Given the description of an element on the screen output the (x, y) to click on. 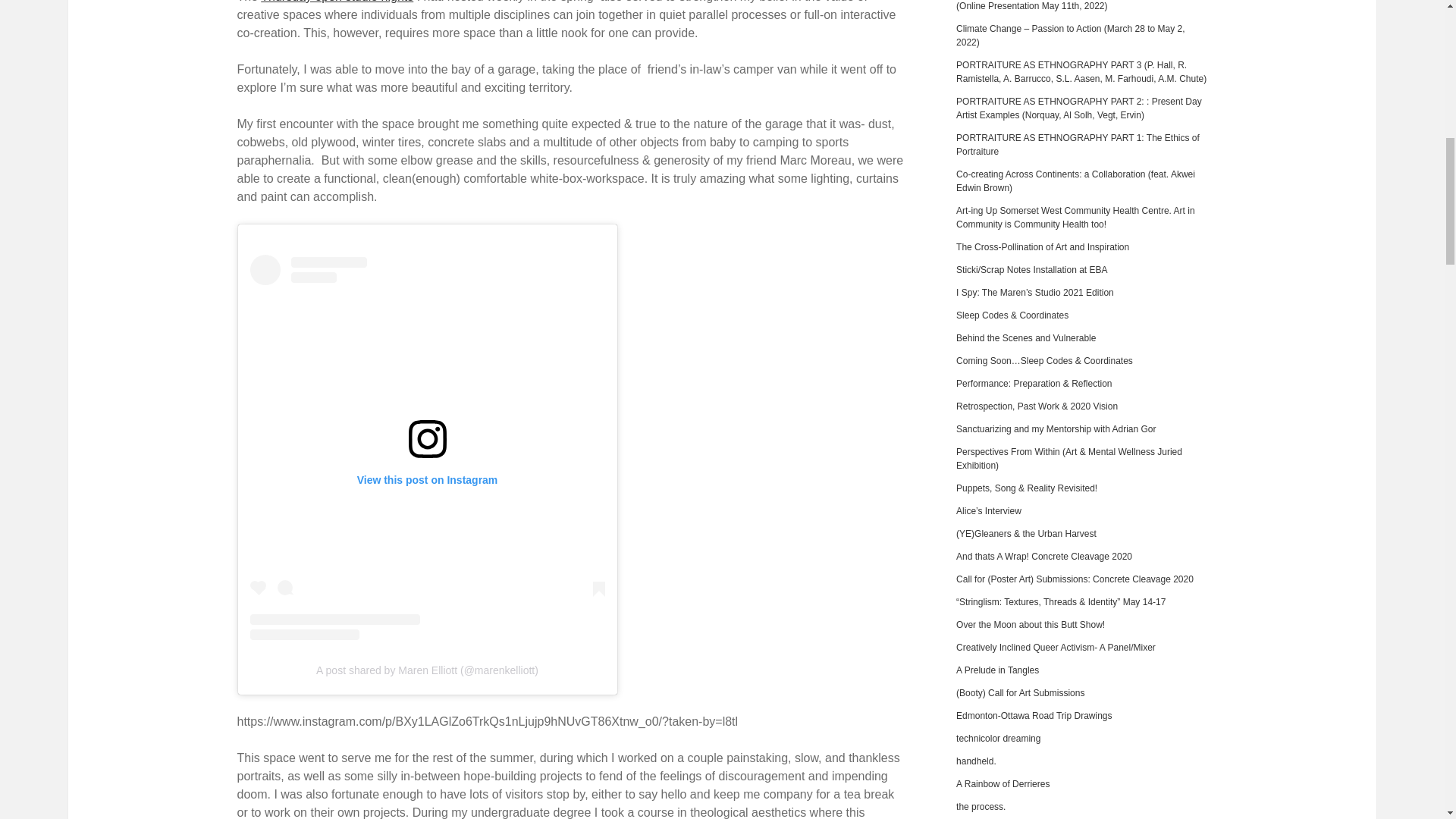
Thursday open studio nights (336, 1)
